Given the description of an element on the screen output the (x, y) to click on. 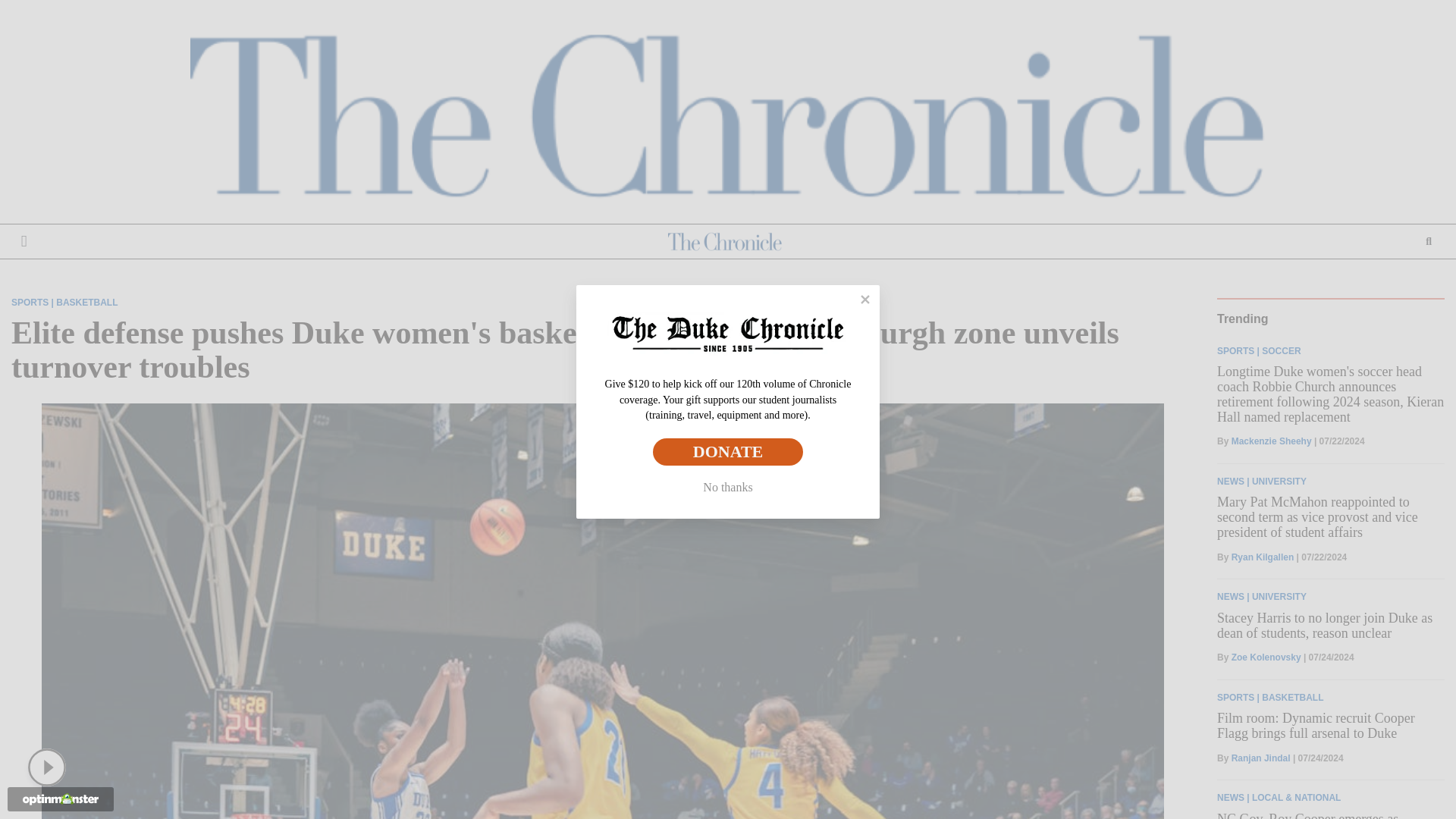
No thanks (727, 487)
Powered by OptinMonster (61, 799)
Donate (727, 451)
Close (865, 299)
Trinity Audio Player (50, 768)
